Given the description of an element on the screen output the (x, y) to click on. 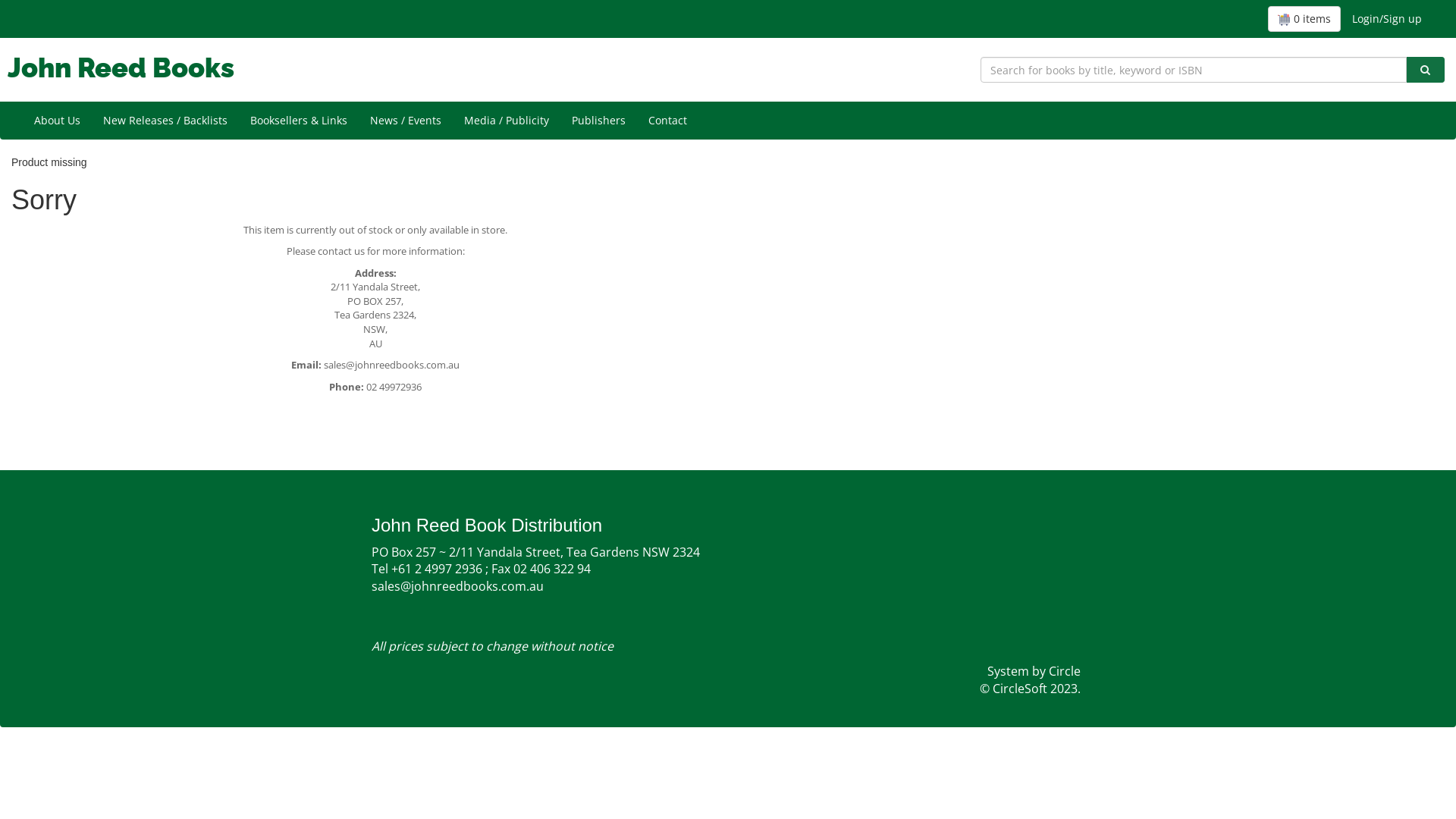
sales@johnreedbooks.com.au Element type: text (480, 594)
New Releases / Backlists Element type: text (164, 120)
Contact Element type: text (667, 120)
John Reed Books Element type: text (120, 67)
News / Events Element type: text (405, 120)
About Us Element type: text (56, 120)
System by Circle Element type: text (1033, 671)
Booksellers & Links Element type: text (298, 120)
Login/Sign up Element type: text (1386, 18)
0 items Element type: text (1303, 18)
Media / Publicity Element type: text (506, 120)
Publishers Element type: text (598, 120)
sales@johnreedbooks.com.au Element type: text (391, 364)
0 items Element type: text (1303, 18)
